Given the description of an element on the screen output the (x, y) to click on. 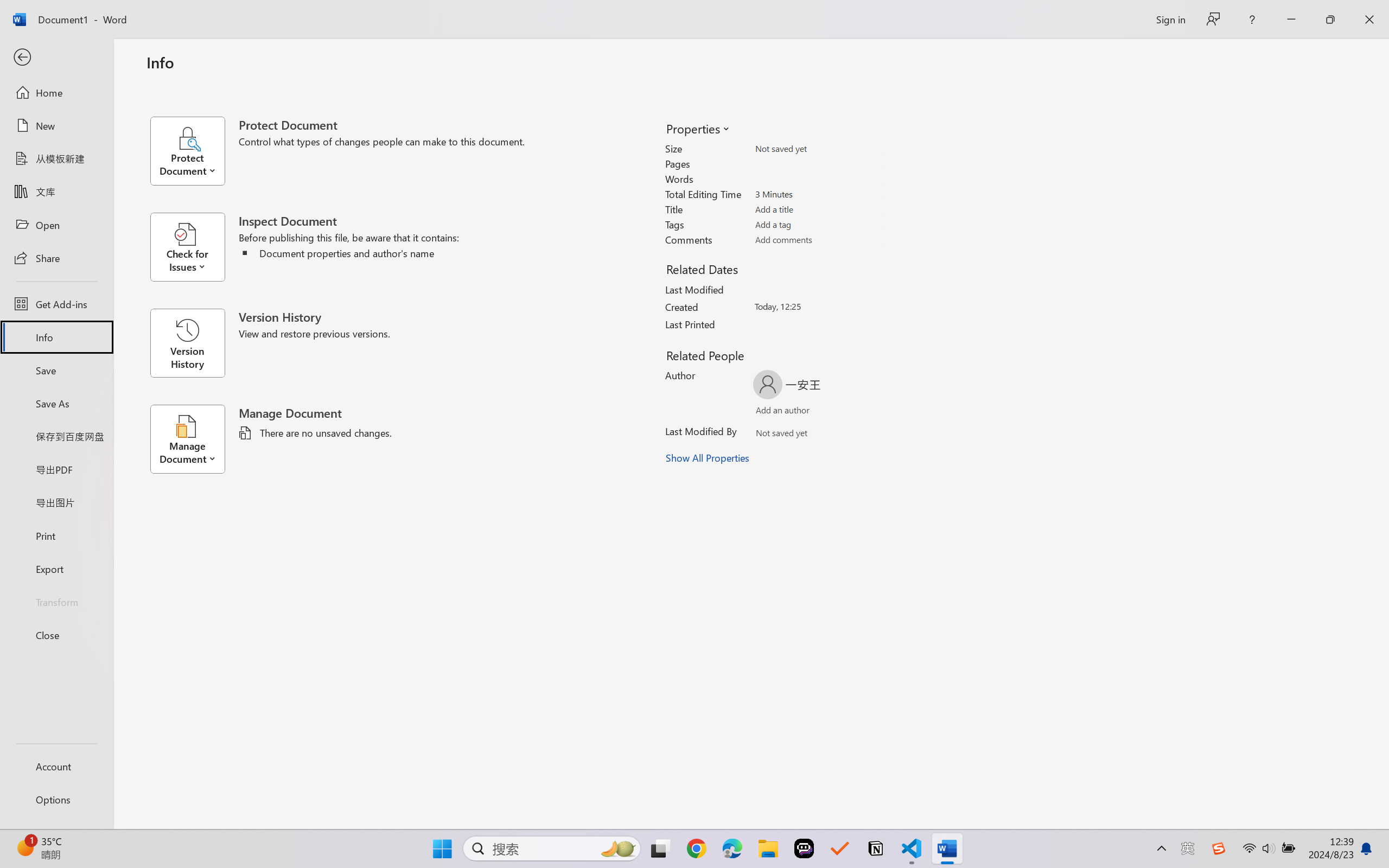
Google Workspace Admin Community (54, 12)
Mute tab (761, 11)
Quit Game (1367, 76)
Privacy Checkup (679, 12)
New Tab (1233, 12)
Log-in now (223, 803)
Install Google Arts & Culture (1275, 37)
Currencies - Google Finance (332, 12)
